Given the description of an element on the screen output the (x, y) to click on. 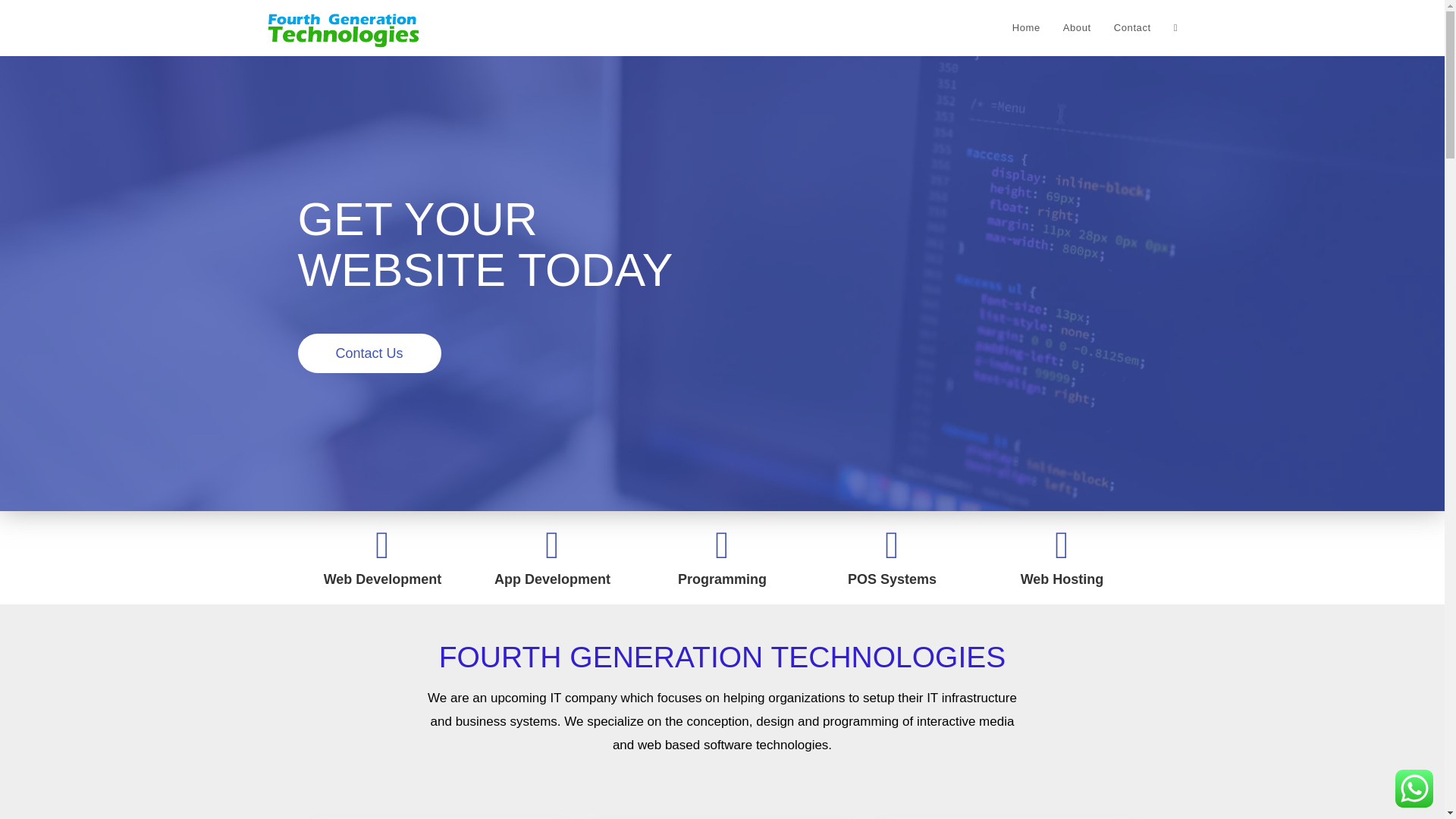
Contact (1131, 28)
About (1076, 28)
Contact Us (369, 353)
Home (1026, 28)
